Given the description of an element on the screen output the (x, y) to click on. 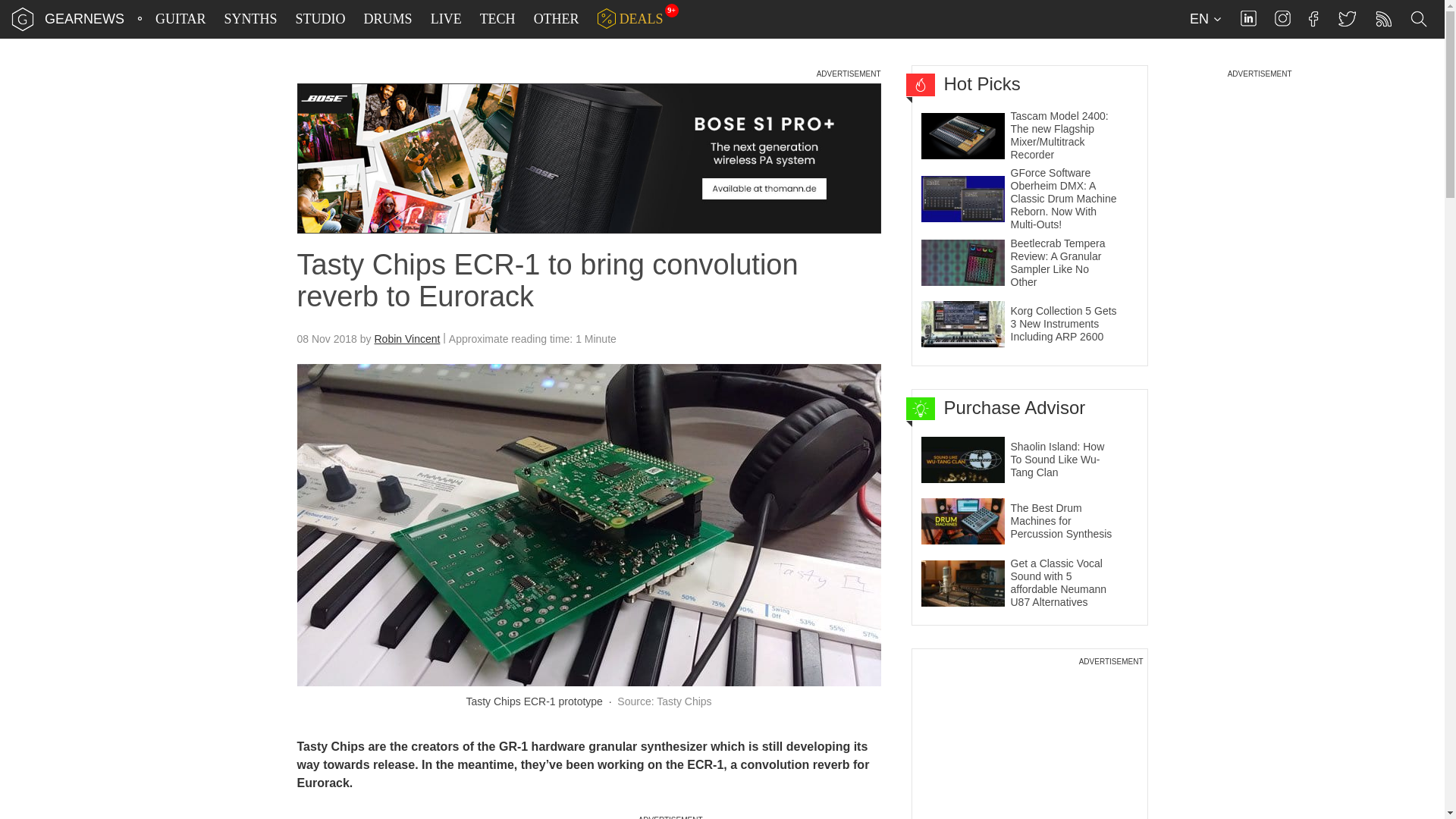
STUDIO (320, 19)
DEALS (630, 19)
OTHER (556, 19)
LIVE (445, 19)
TECH (497, 19)
LinkedIn (1248, 18)
GUITAR (181, 19)
DRUMS (387, 19)
Approximate reading time: (531, 339)
GEARNEWS (84, 18)
SYNTHS (250, 19)
Instagram (1282, 18)
